Given the description of an element on the screen output the (x, y) to click on. 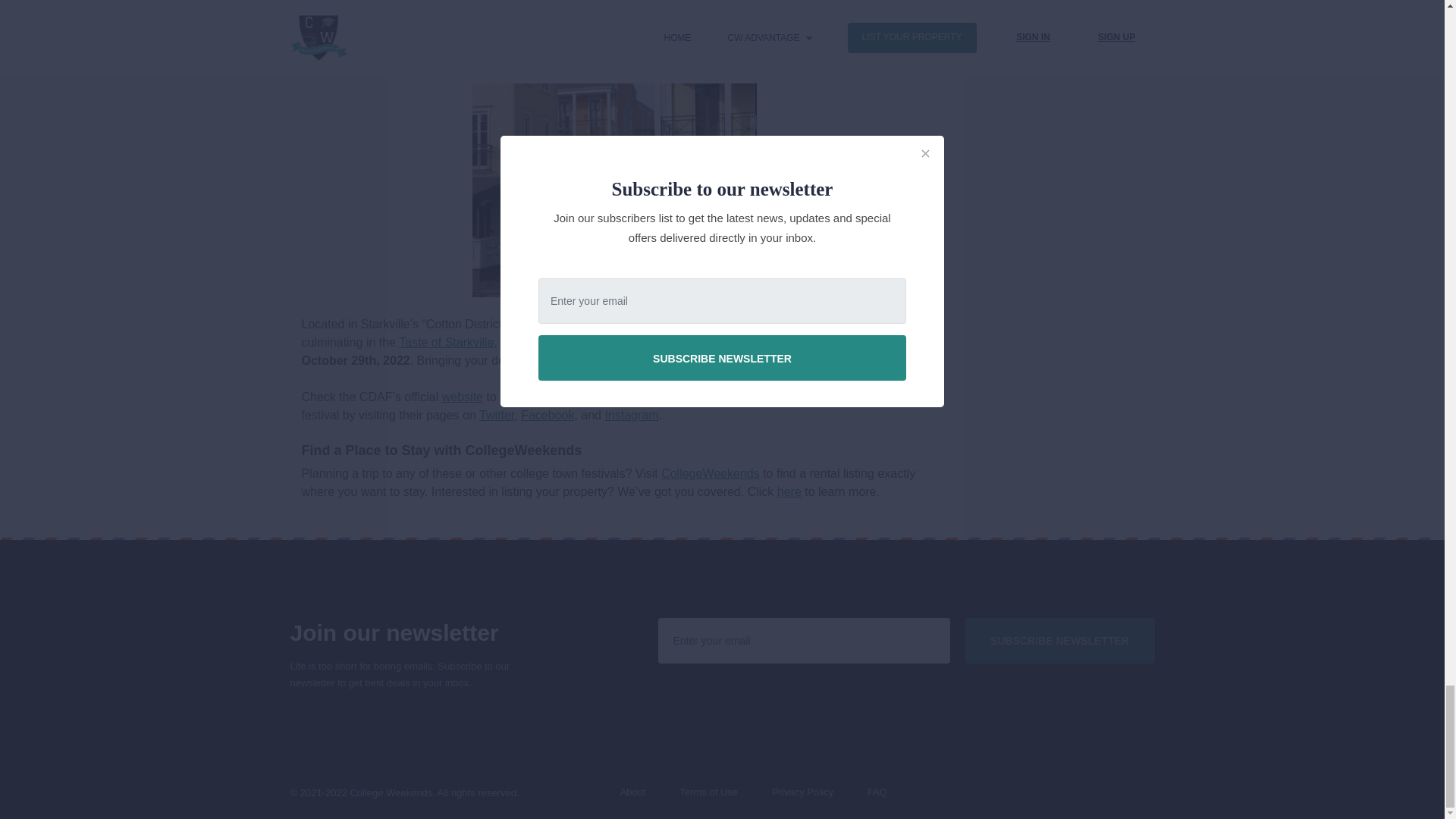
Subscribe Newsletter (1058, 640)
